Given the description of an element on the screen output the (x, y) to click on. 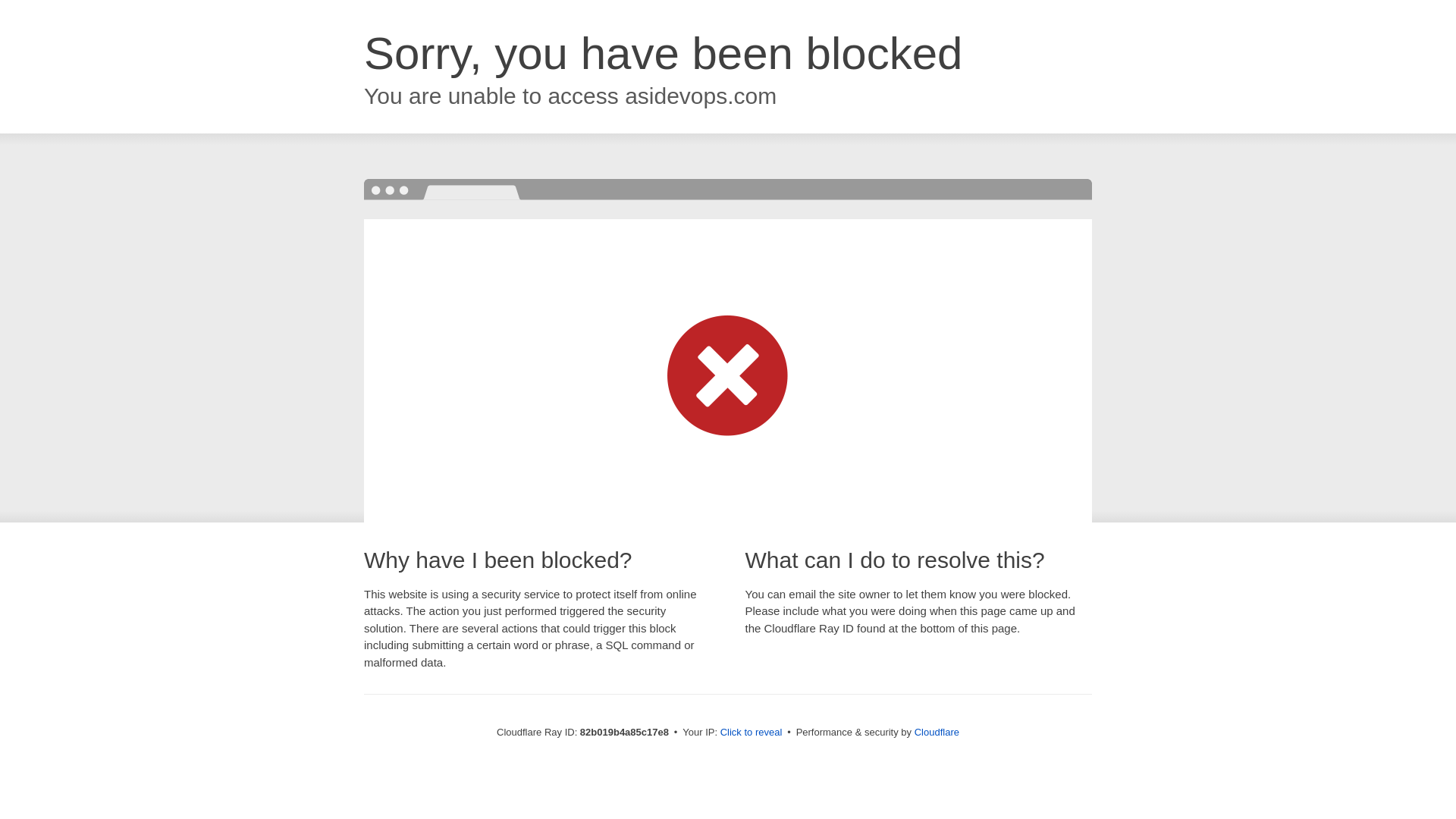
Click to reveal Element type: text (751, 732)
Cloudflare Element type: text (936, 731)
